Given the description of an element on the screen output the (x, y) to click on. 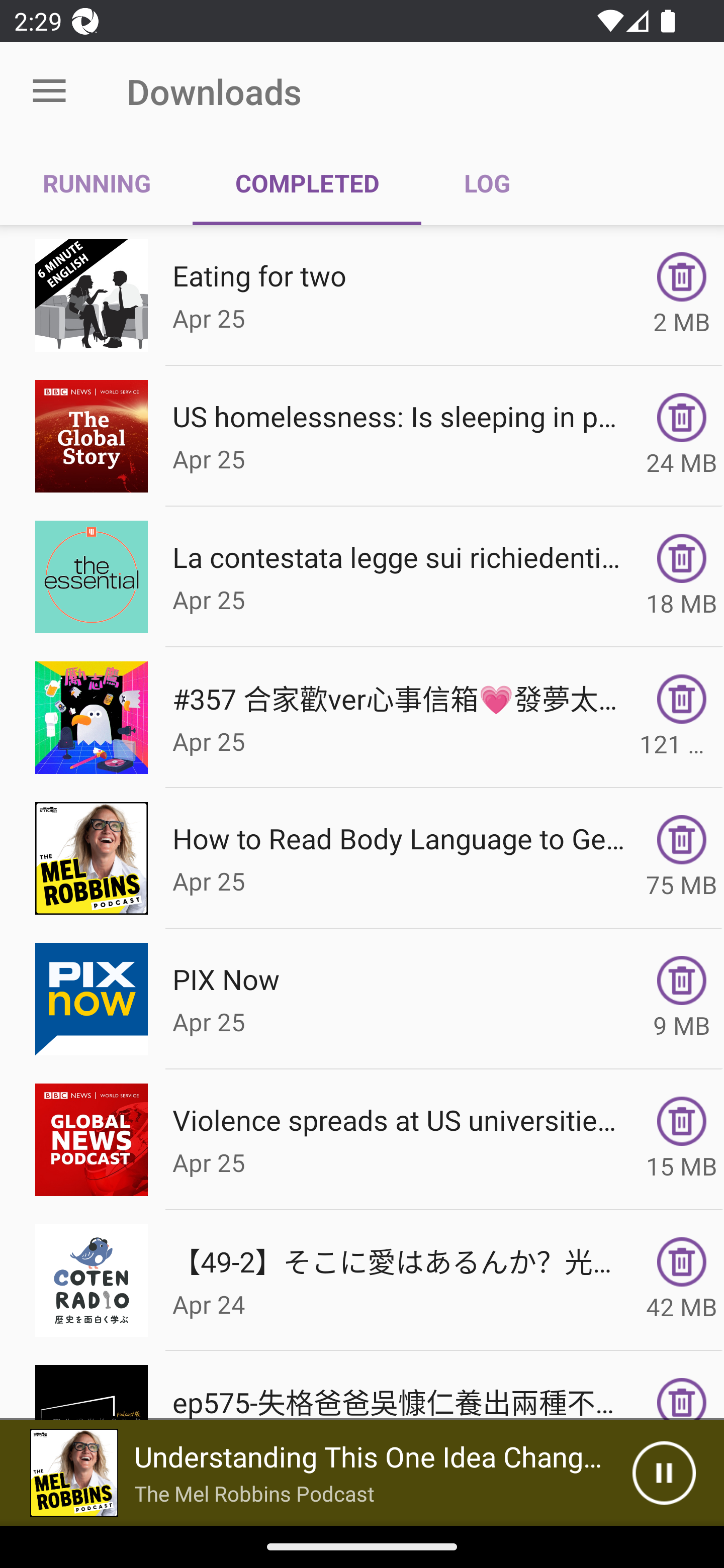
Open menu (49, 91)
RUNNING (96, 183)
COMPLETED (306, 183)
LOG (486, 183)
Picture Eating for two Apr 25 Remove Episode 2 MB (362, 295)
Remove Episode (681, 276)
Remove Episode (681, 417)
Remove Episode (681, 558)
Remove Episode (681, 699)
Remove Episode (681, 839)
Picture PIX Now Apr 25 Remove Episode 9 MB (362, 998)
Remove Episode (681, 980)
Remove Episode (681, 1121)
Remove Episode (681, 1262)
Remove Episode (681, 1399)
Pause (663, 1472)
